Given the description of an element on the screen output the (x, y) to click on. 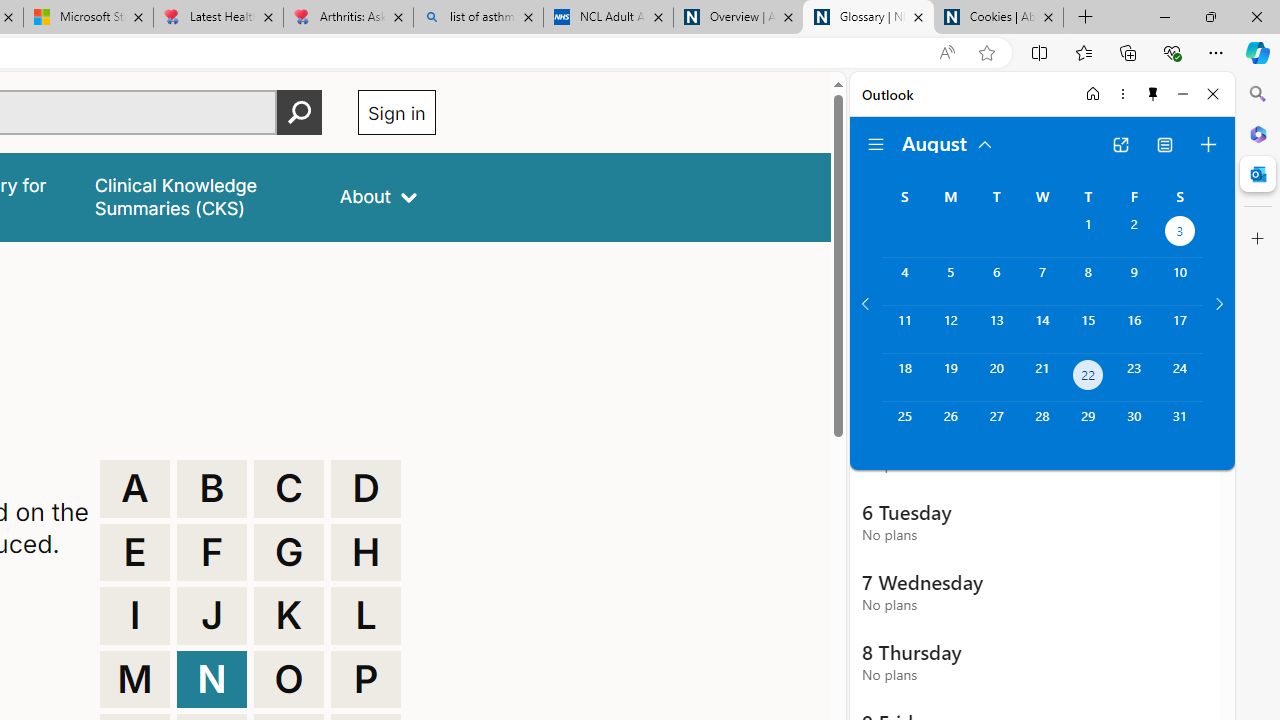
Thursday, August 29, 2024.  (1088, 425)
NCL Adult Asthma Inhaler Choice Guideline (608, 17)
Home (1093, 93)
C (289, 488)
G (289, 551)
F (212, 551)
Arthritis: Ask Health Professionals (348, 17)
Saturday, August 24, 2024.  (1180, 377)
View Switcher. Current view is Agenda view (1165, 144)
Monday, August 26, 2024.  (950, 425)
Split screen (1039, 52)
M (134, 679)
Saturday, August 17, 2024.  (1180, 329)
Saturday, August 31, 2024.  (1180, 425)
